Given the description of an element on the screen output the (x, y) to click on. 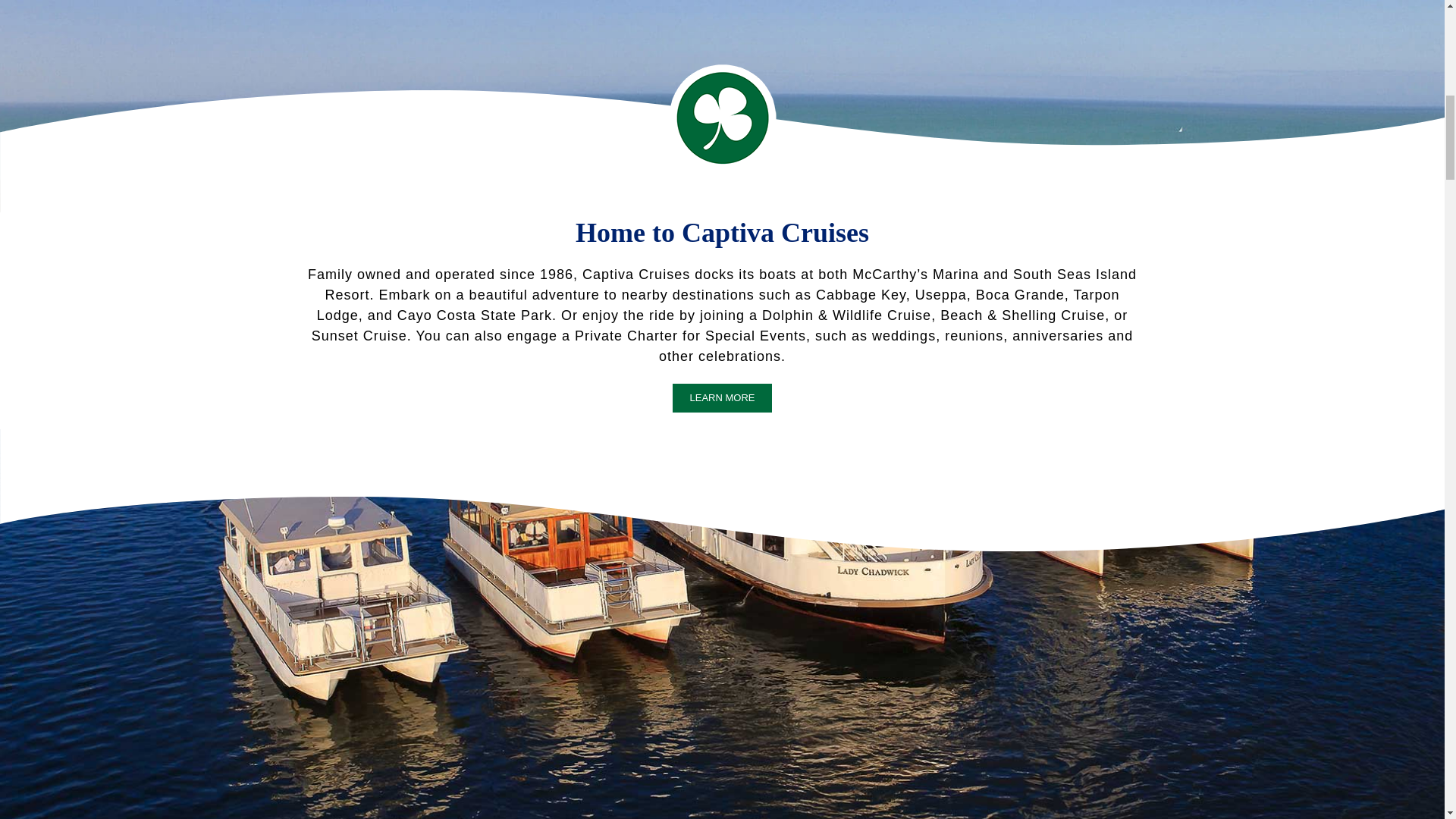
LEARN MORE (722, 398)
3-leaf-clover-icon (721, 117)
